Given the description of an element on the screen output the (x, y) to click on. 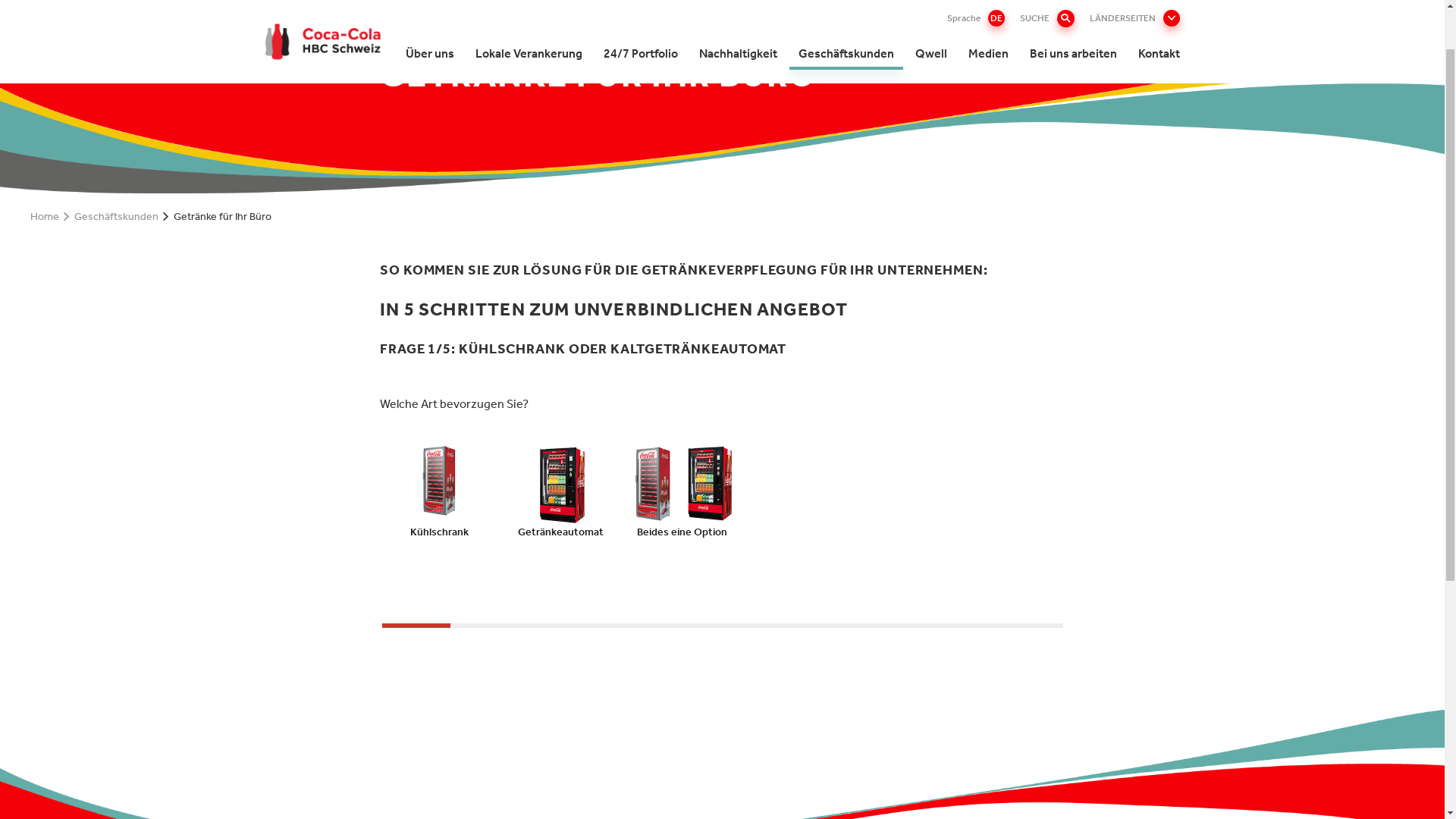
Kontakt Element type: text (1158, 112)
24/7 Portfolio Element type: text (640, 112)
Lokale Verankerung Element type: text (527, 112)
Nachhaltigkeit Element type: text (738, 112)
Bei uns arbeiten Element type: text (1073, 112)
DE Element type: text (995, 77)
Medien Element type: text (987, 112)
Home Element type: text (44, 275)
Qwell Element type: text (930, 112)
SUCHE Element type: text (1046, 76)
